Given the description of an element on the screen output the (x, y) to click on. 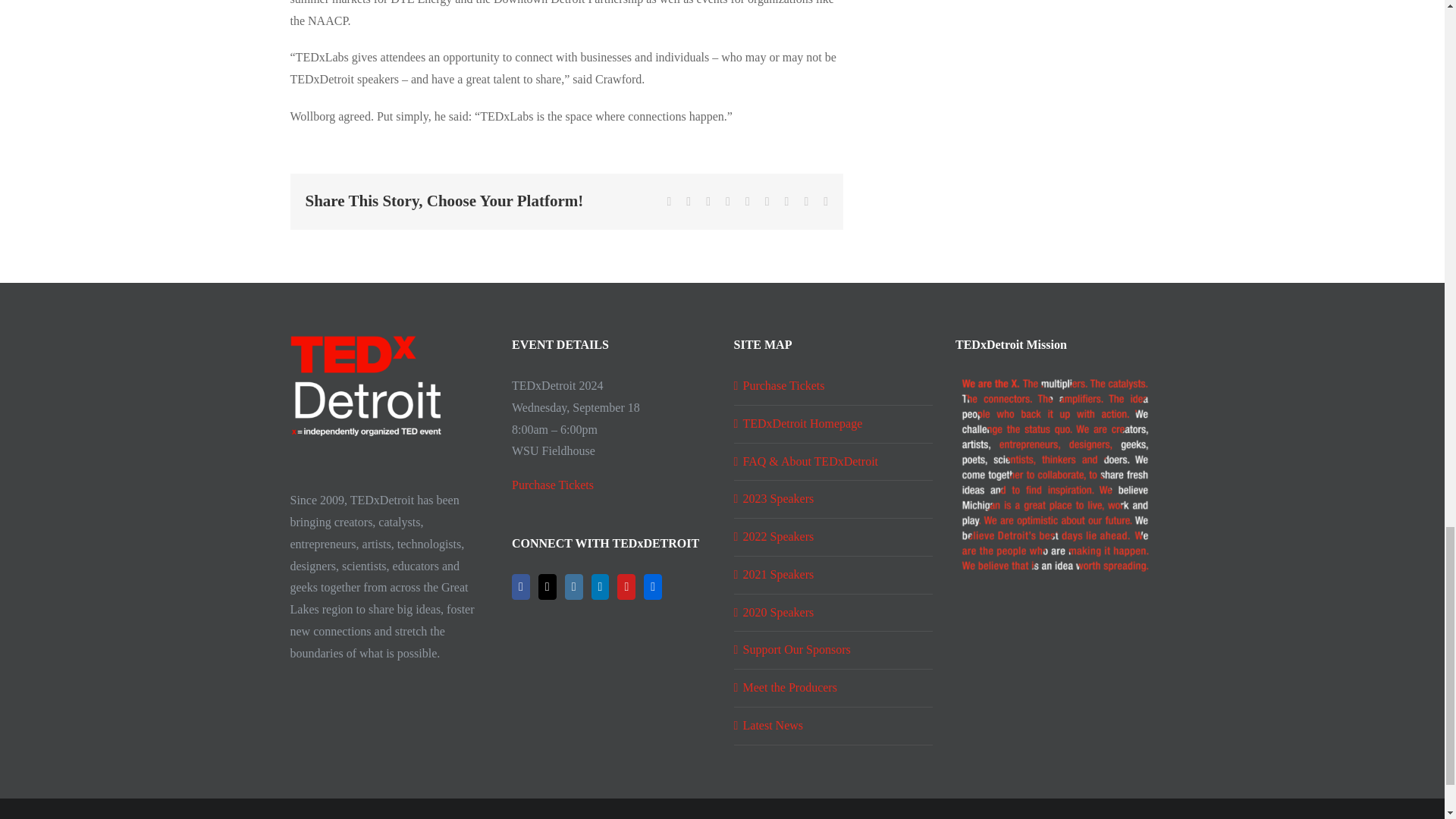
Twitter (547, 586)
Pinterest (786, 201)
Reddit (708, 201)
Purchase Tickets (553, 484)
WhatsApp (747, 201)
LinkedIn (727, 201)
WhatsApp (747, 201)
Reddit (708, 201)
LinkedIn (600, 586)
Pinterest (786, 201)
Twitter (687, 201)
Twitter (687, 201)
Facebook (668, 201)
Facebook (668, 201)
YouTube (625, 586)
